Given the description of an element on the screen output the (x, y) to click on. 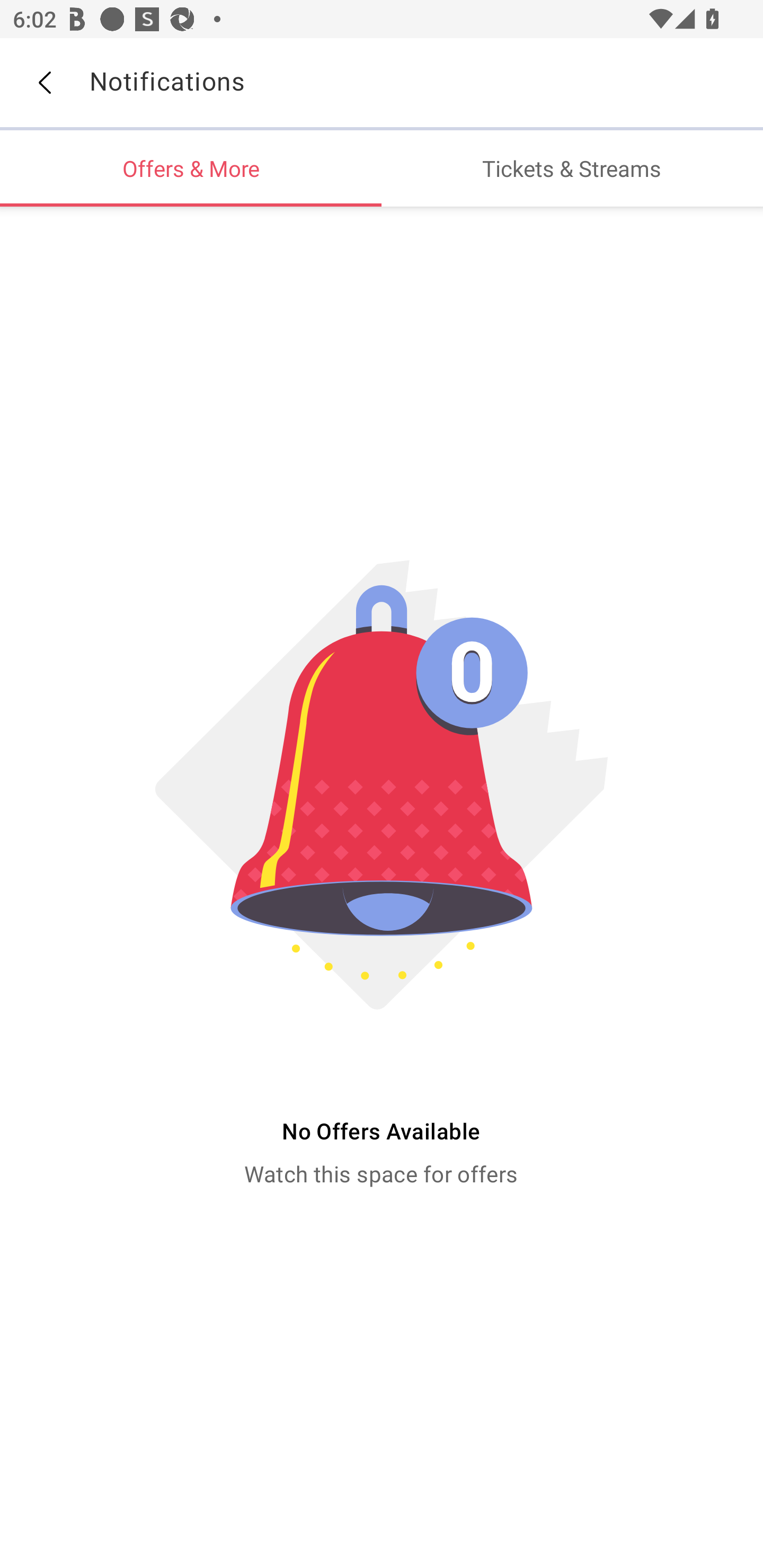
Back (44, 82)
Tickets & Streams (572, 168)
